Given the description of an element on the screen output the (x, y) to click on. 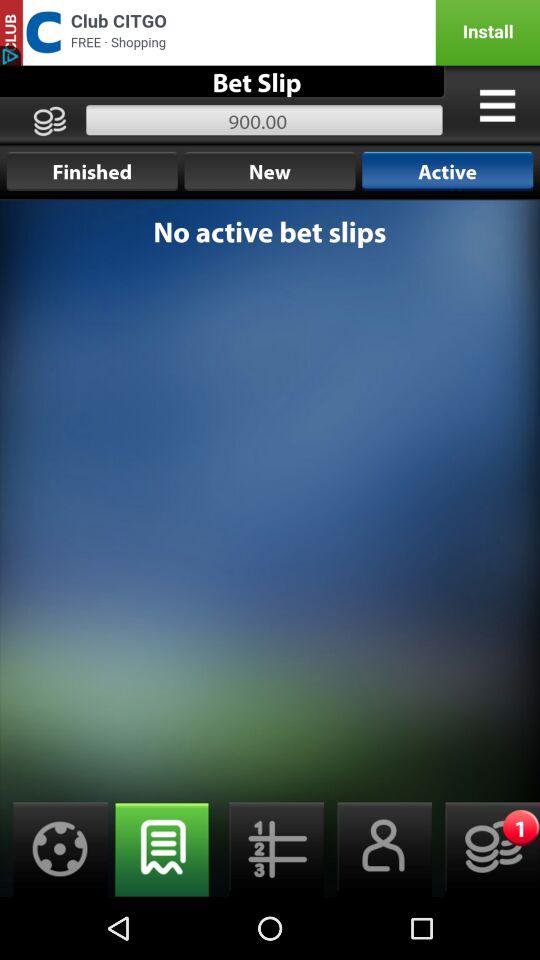
go to advertising site (270, 32)
